Given the description of an element on the screen output the (x, y) to click on. 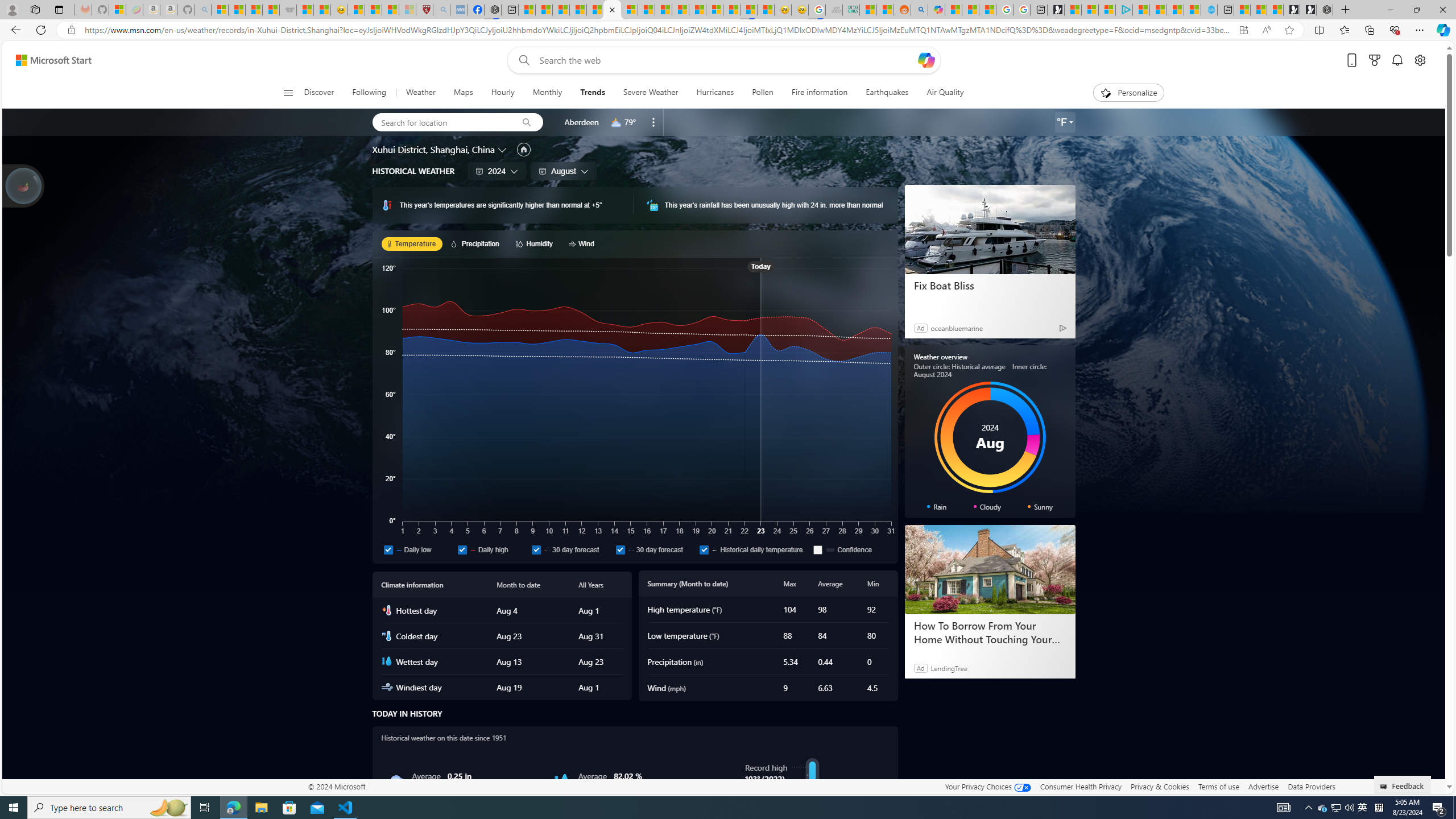
30 day forecast (619, 549)
Utah sues federal government - Search (919, 9)
Historical daily temperature (703, 549)
Microsoft Copilot in Bing (936, 9)
Enter your search term (726, 59)
Xuhui District, Shanghai, China (433, 149)
